Given the description of an element on the screen output the (x, y) to click on. 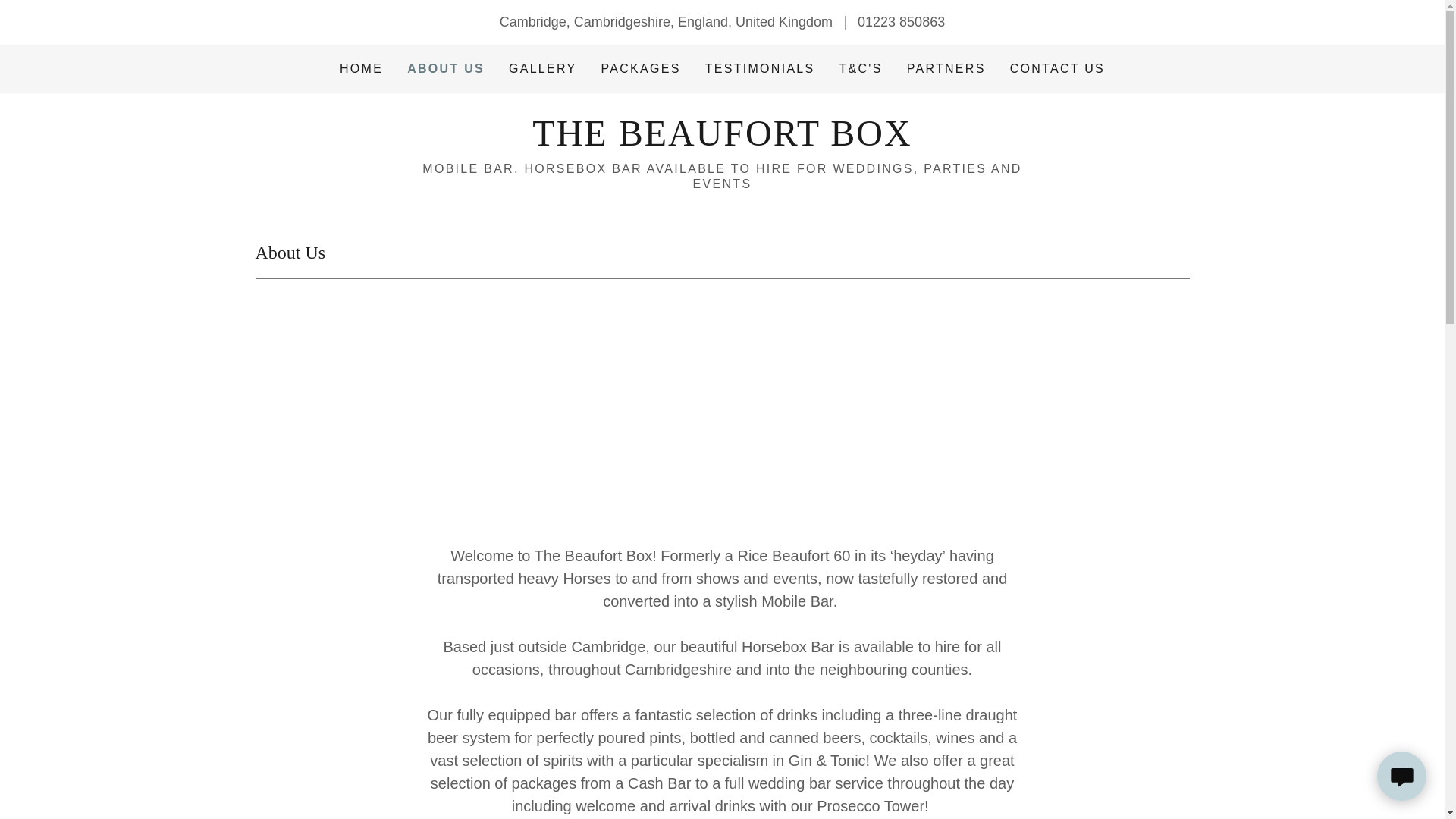
PARTNERS (946, 68)
ABOUT US (445, 68)
GALLERY (541, 68)
TESTIMONIALS (759, 68)
01223 850863 (900, 21)
HOME (360, 68)
PACKAGES (640, 68)
THE BEAUFORT BOX (721, 140)
CONTACT US (1057, 68)
The beaufort box  (721, 140)
